Given the description of an element on the screen output the (x, y) to click on. 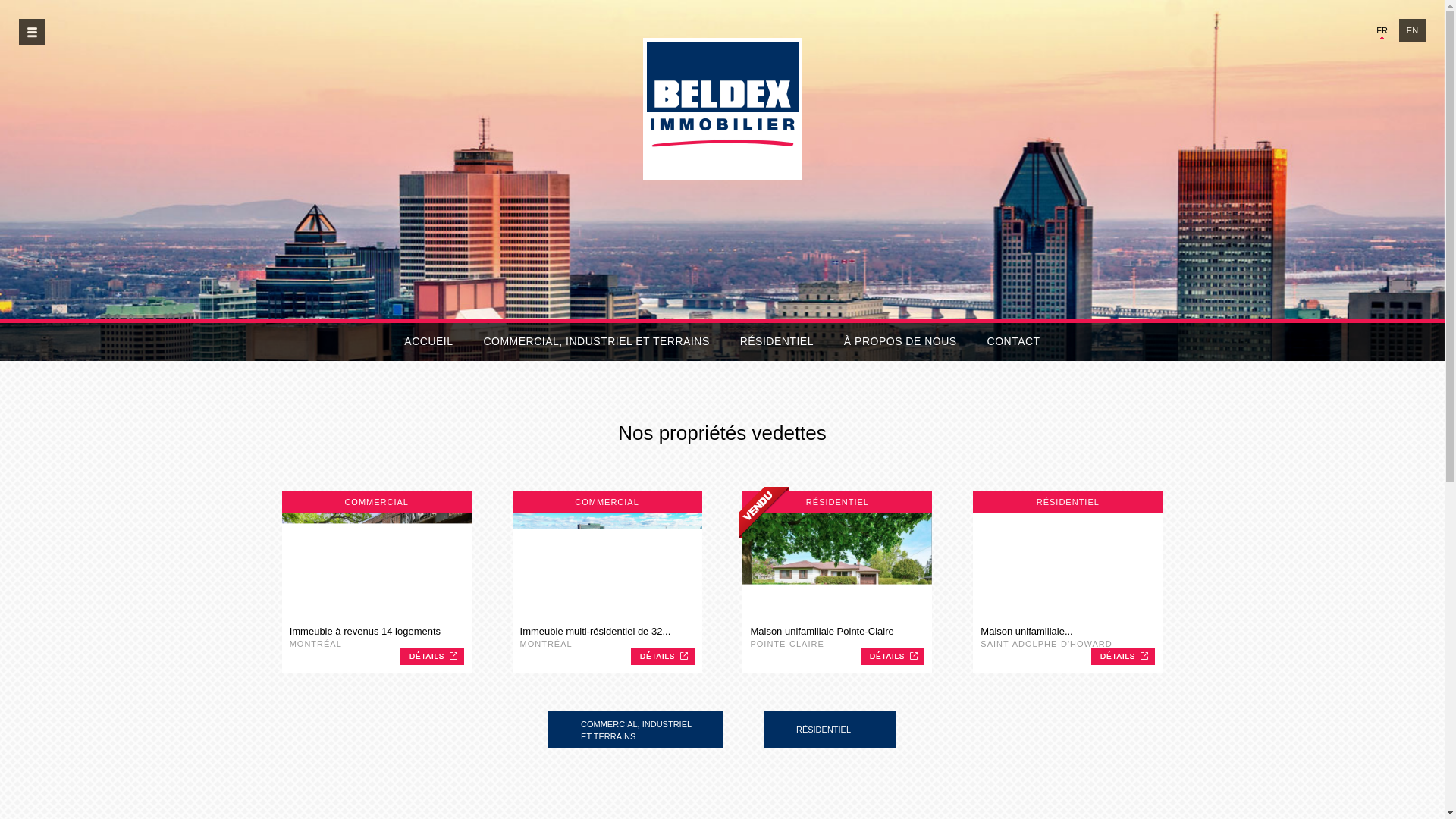
COMMERCIAL, INDUSTRIEL
ET TERRAINS Element type: text (635, 729)
CONTACT Element type: text (1013, 341)
EN Element type: text (1412, 29)
COMMERCIAL, INDUSTRIEL ET TERRAINS Element type: text (595, 341)
Beldex Immobilier Element type: hover (722, 108)
ACCUEIL Element type: text (428, 341)
